Given the description of an element on the screen output the (x, y) to click on. 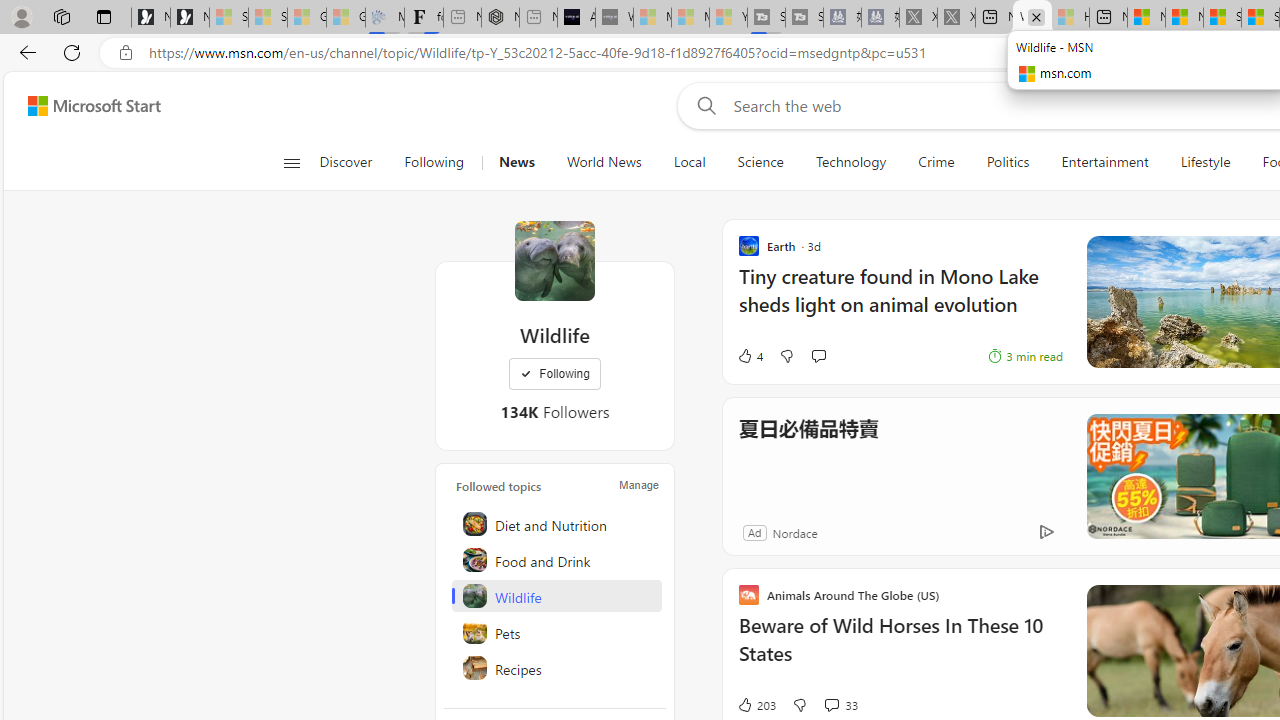
Pets (556, 632)
Skip to footer (82, 105)
View comments 33 Comment (831, 704)
203 Like (755, 704)
4 Like (749, 355)
